Given the description of an element on the screen output the (x, y) to click on. 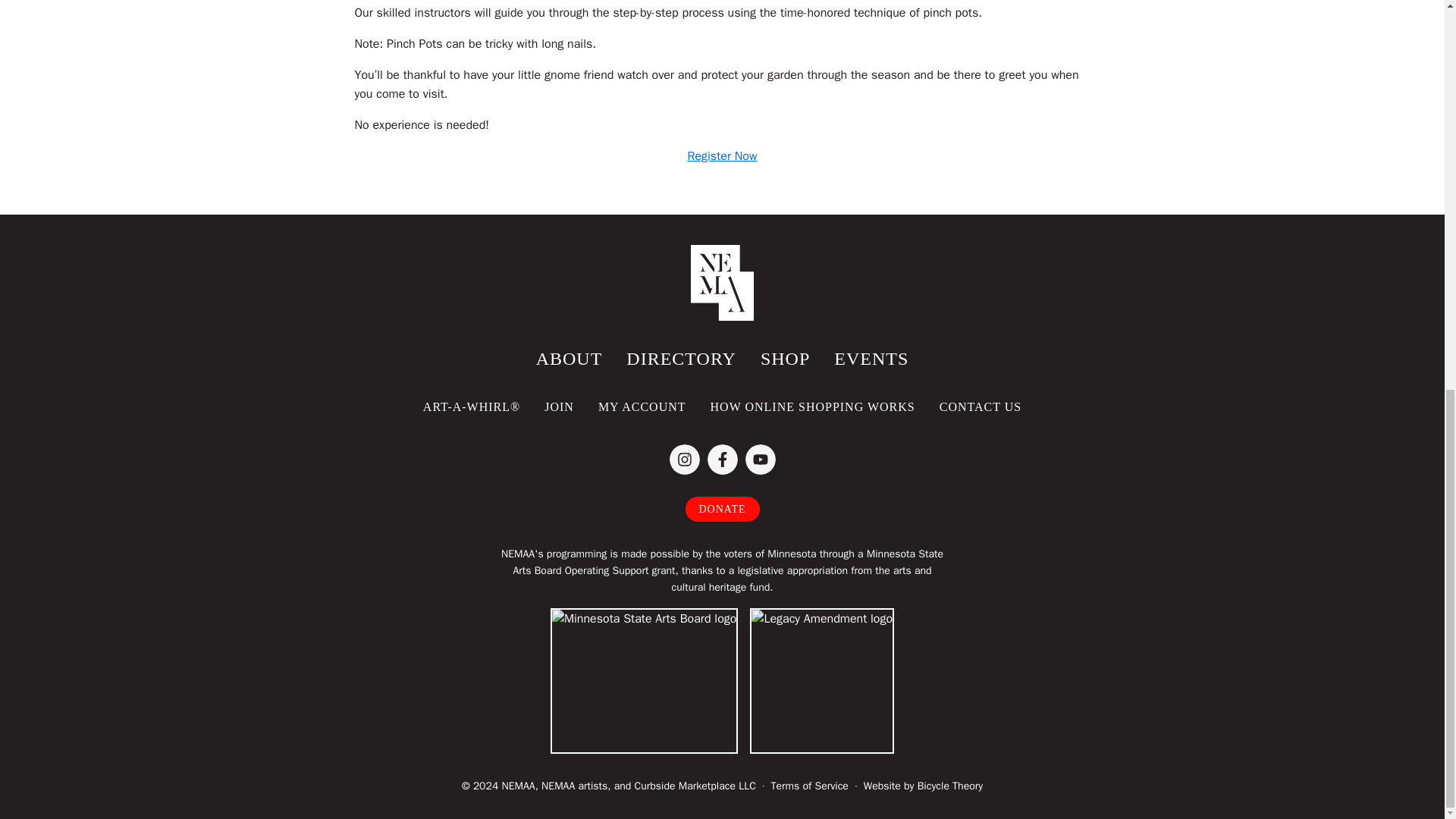
CONTACT US (980, 406)
Facebook (721, 459)
ABOUT (569, 359)
EVENTS (871, 359)
Instagram (683, 459)
SHOP (785, 359)
Register Now (722, 155)
YouTube (759, 459)
MY ACCOUNT (642, 406)
JOIN (559, 406)
